Given the description of an element on the screen output the (x, y) to click on. 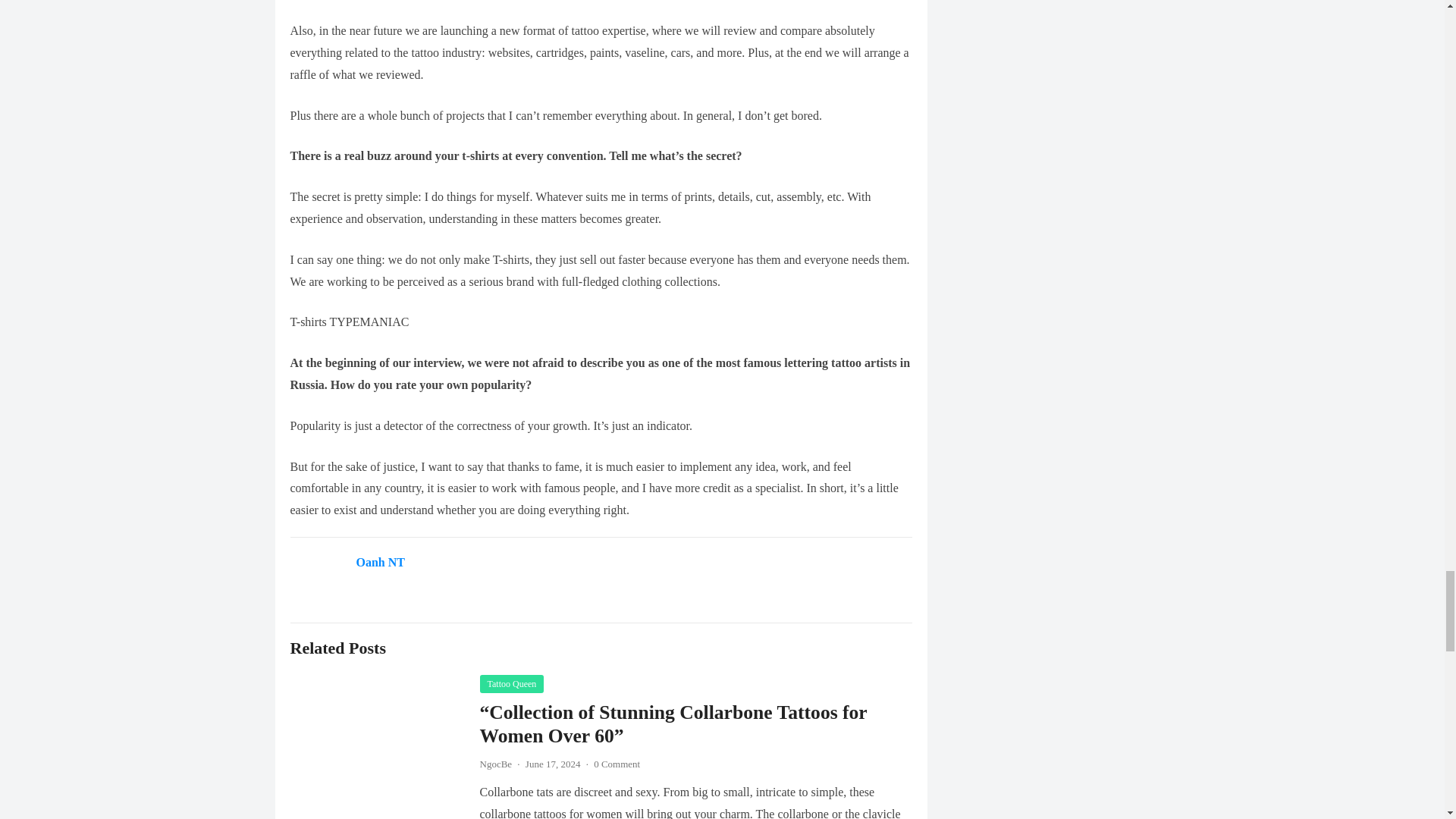
Oanh NT (380, 562)
Tattoo Queen (511, 683)
0 Comment (617, 763)
NgocBe (495, 763)
Posts by NgocBe (495, 763)
